Given the description of an element on the screen output the (x, y) to click on. 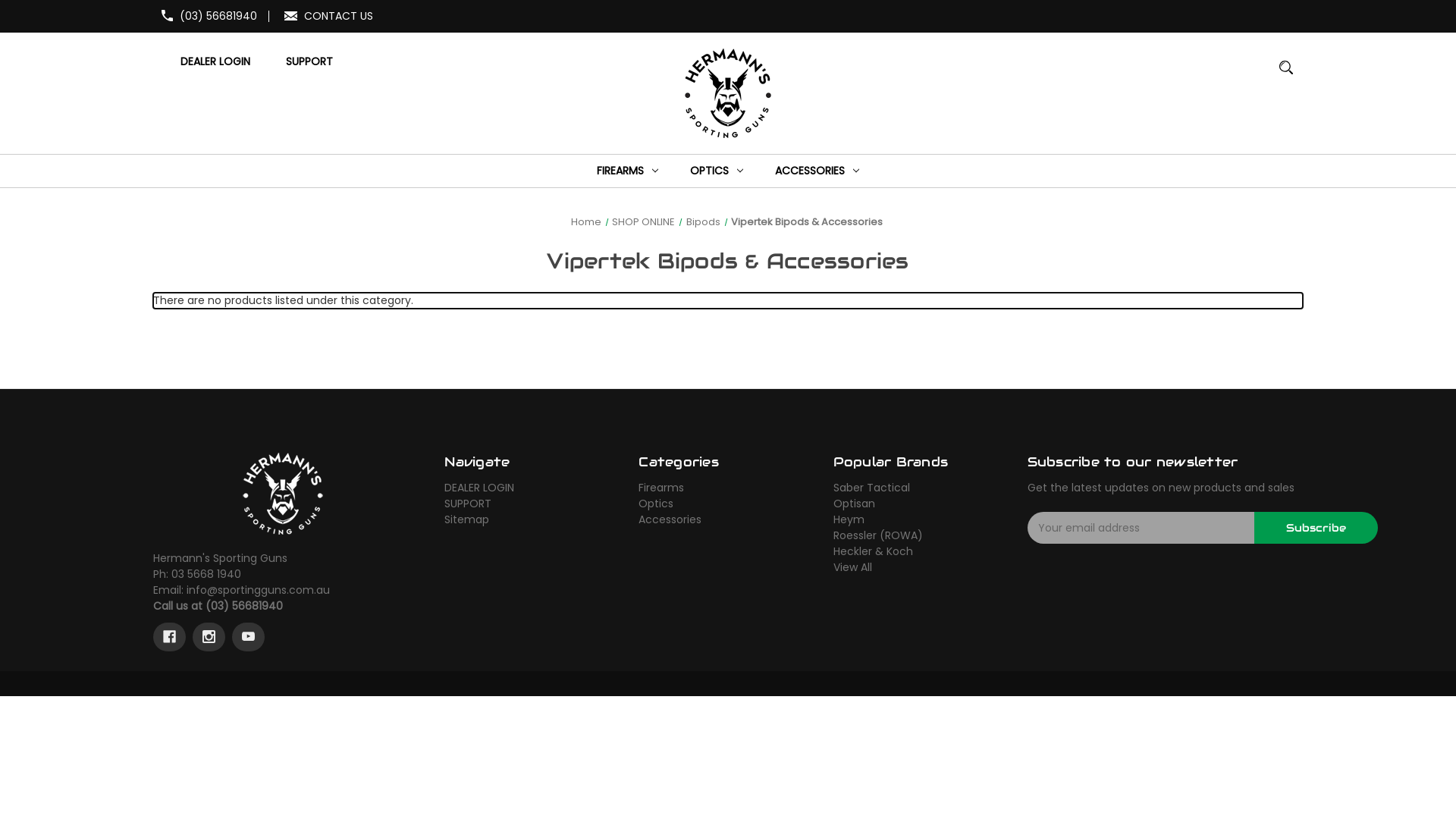
Subscribe Element type: text (1315, 528)
Optisan Element type: text (854, 503)
View All Element type: text (852, 567)
(03) 56681940 Element type: text (217, 15)
Hermann's Sporting Guns Element type: hover (282, 493)
Facebook Element type: hover (169, 636)
Vipertek Bipods & Accessories Element type: text (806, 221)
ACCESSORIES Element type: text (817, 170)
Instagram Element type: hover (208, 636)
Home Element type: text (585, 221)
MAGNIFYING GLASS IMAGE LARGE RED CIRCLE WITH A BLACK BORDER Element type: text (1286, 74)
Youtube Element type: hover (248, 636)
Saber Tactical Element type: text (871, 487)
FIREARMS Element type: text (627, 170)
Bipods Element type: text (702, 221)
SUPPORT Element type: text (308, 61)
Heym Element type: text (848, 519)
Hermann's Sporting Guns Element type: hover (727, 93)
OPTICS Element type: text (716, 170)
DEALER LOGIN Element type: text (215, 61)
Optics Element type: text (655, 503)
Heckler & Koch Element type: text (873, 551)
Firearms Element type: text (661, 487)
Accessories Element type: text (669, 519)
CONTACT US Element type: text (338, 15)
DEALER LOGIN Element type: text (479, 487)
SUPPORT Element type: text (467, 503)
SHOP ONLINE Element type: text (642, 221)
Sitemap Element type: text (466, 519)
Roessler (ROWA) Element type: text (877, 535)
